Given the description of an element on the screen output the (x, y) to click on. 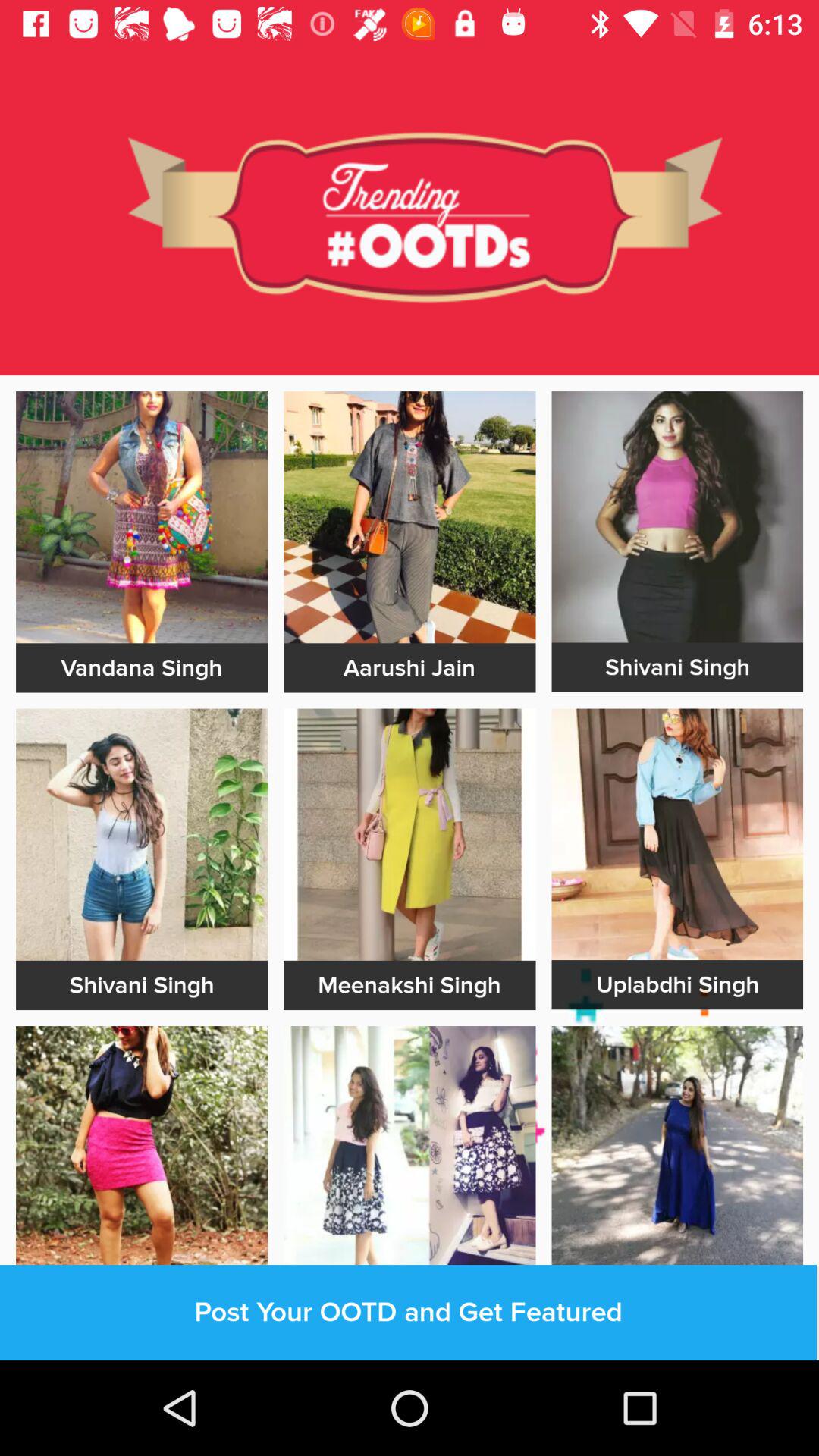
advertisement page (677, 1151)
